Given the description of an element on the screen output the (x, y) to click on. 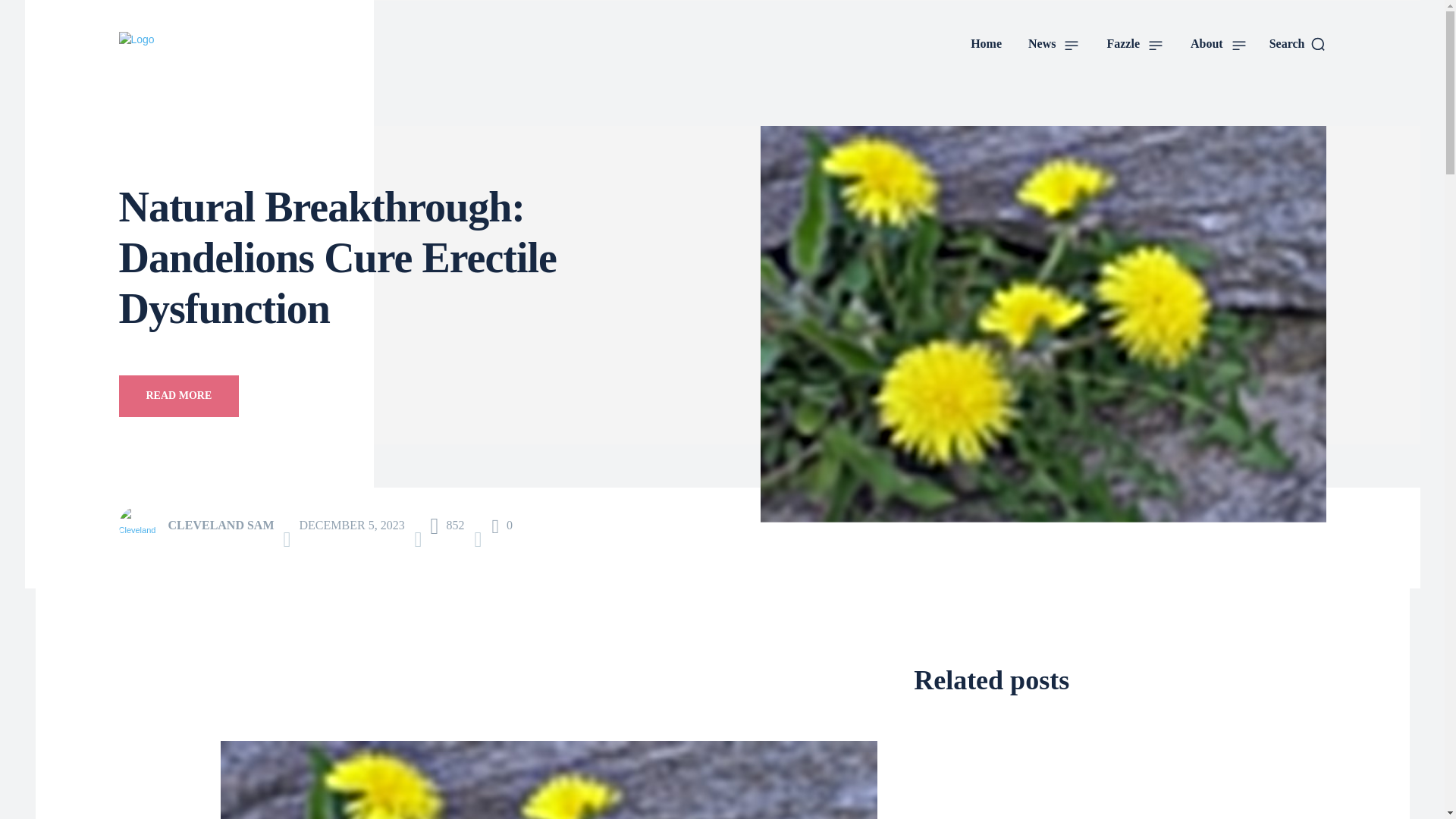
News (1054, 43)
Fazzle (1134, 43)
About (1218, 43)
Home (986, 43)
Read More (177, 395)
Cleveland Sam (141, 525)
